Given the description of an element on the screen output the (x, y) to click on. 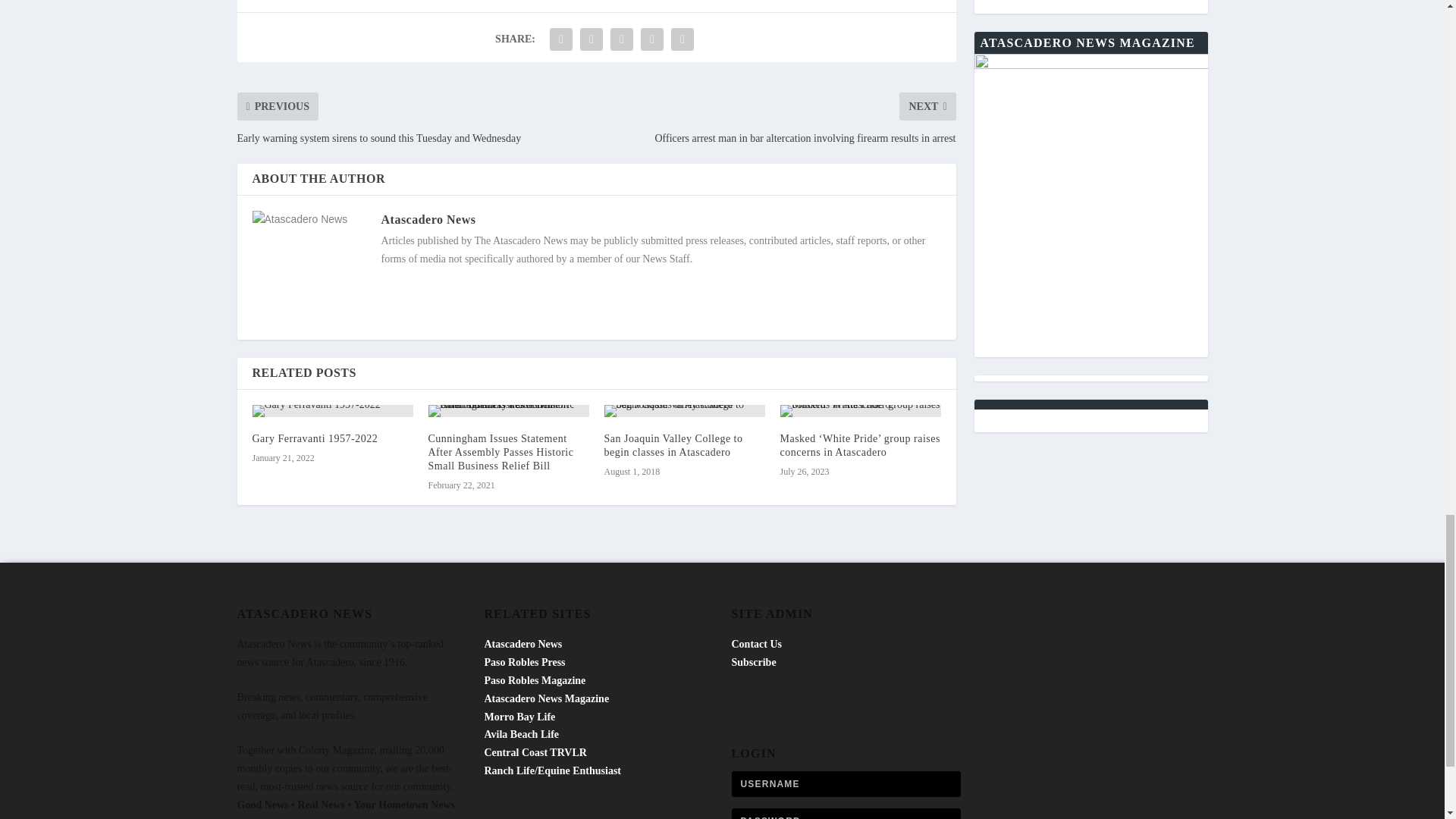
Atascadero News (428, 219)
San Joaquin Valley College to begin classes in Atascadero (673, 445)
Gary Ferravanti 1957-2022 (314, 438)
San Joaquin Valley College to begin classes in Atascadero (684, 410)
View all posts by Atascadero News (428, 219)
Gary Ferravanti 1957-2022 (331, 410)
